Given the description of an element on the screen output the (x, y) to click on. 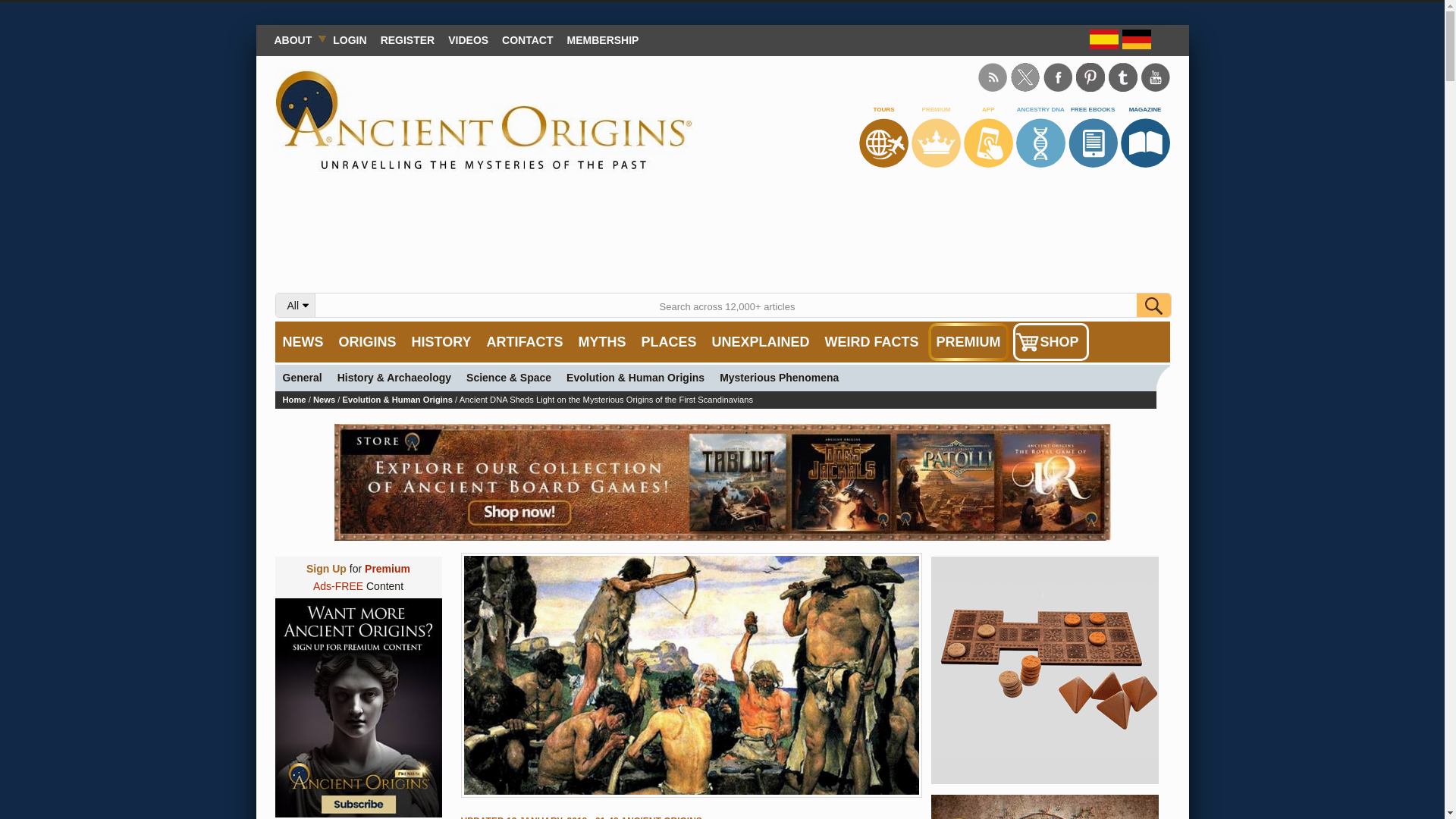
Become a registered user (408, 40)
Contact us (526, 40)
Video Gallery (468, 40)
Our Mission (296, 40)
Login (349, 40)
REGISTER (408, 40)
ABOUT (296, 40)
MEMBERSHIP (603, 40)
VIDEOS (468, 40)
